Given the description of an element on the screen output the (x, y) to click on. 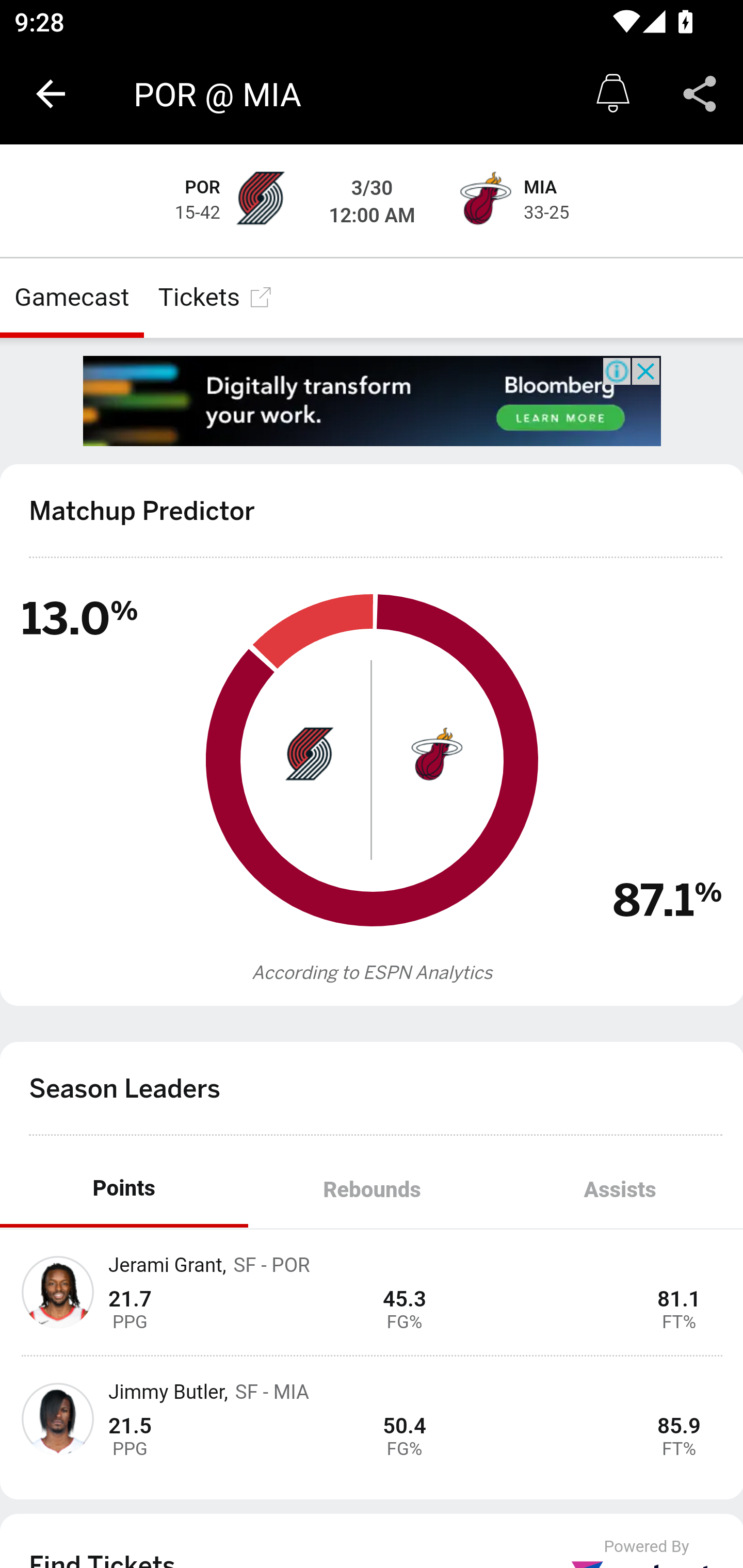
Navigate up (50, 93)
Alerts í (612, 93)
Share (699, 93)
Portland Trail Blazers (260, 200)
Miami Heat (483, 200)
POR (203, 187)
MIA (540, 187)
Gamecast (72, 296)
Tickets External Link Tickets External Link (215, 296)
Portland Trail Blazers (308, 753)
Miami Heat (434, 753)
According to ESPN Analytics (372, 972)
Points (124, 1189)
Rebounds (371, 1189)
Assists (618, 1189)
Powered By VividSeats Powered By VividSeats (646, 1553)
